Given the description of an element on the screen output the (x, y) to click on. 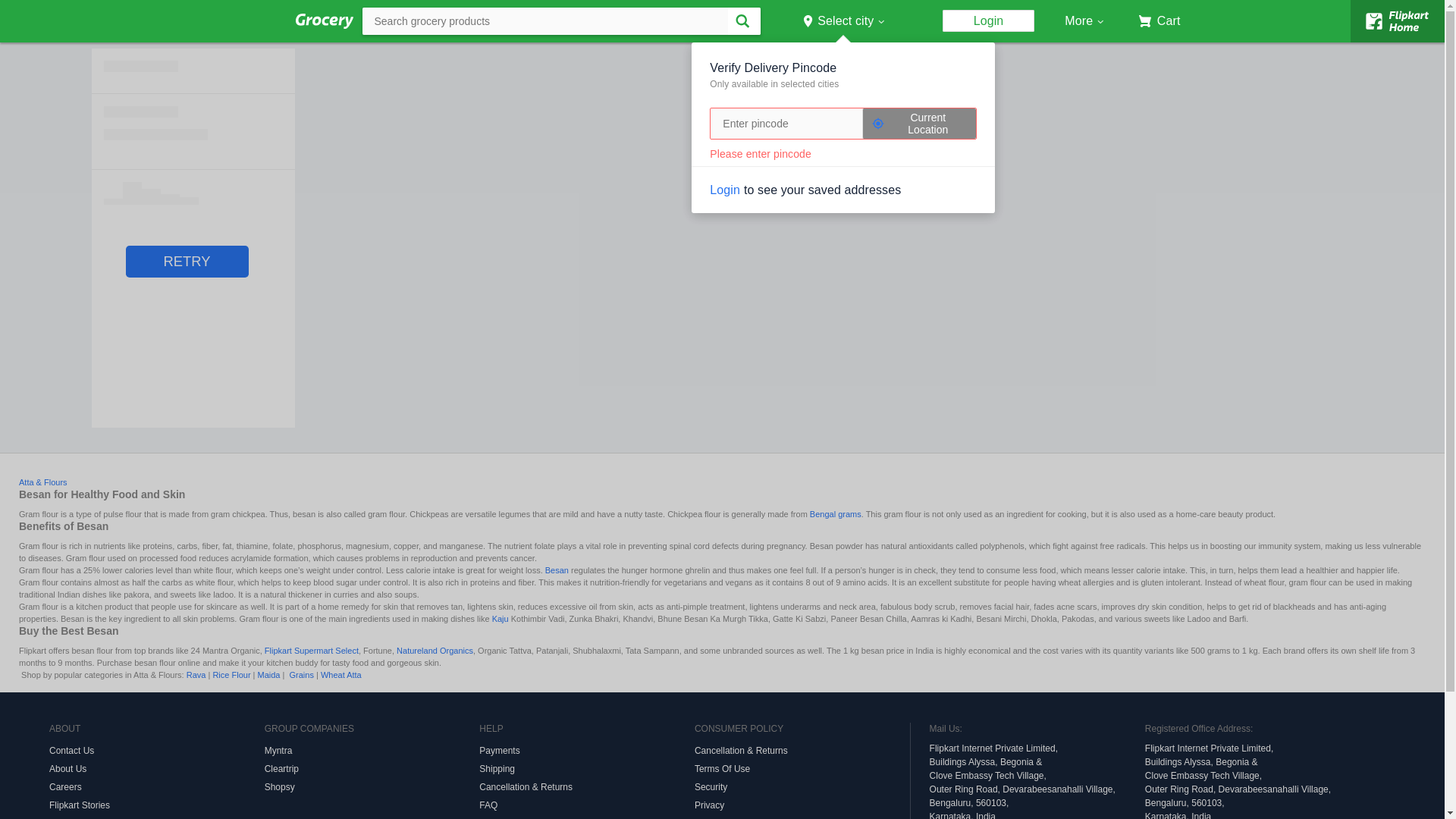
Press (156, 816)
Sitemap (802, 816)
Shopsy (372, 787)
Shopsy (372, 787)
RETRY (186, 261)
Payments (586, 751)
Flipkart Stories (156, 805)
Report Infringement (586, 816)
Natureland Organics (434, 650)
Terms Of Use (802, 769)
